Given the description of an element on the screen output the (x, y) to click on. 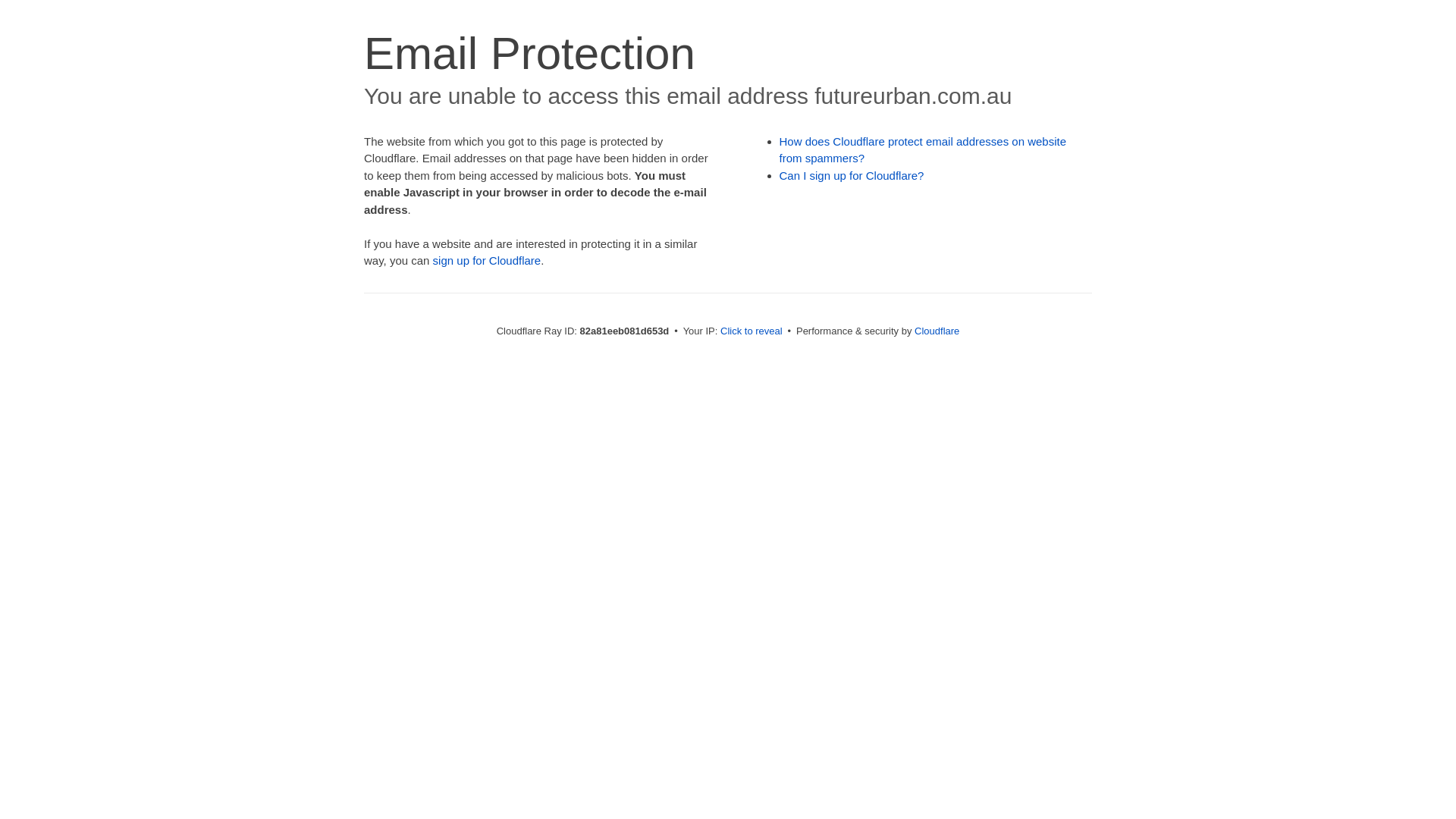
Can I sign up for Cloudflare? Element type: text (851, 175)
sign up for Cloudflare Element type: text (487, 260)
Cloudflare Element type: text (936, 330)
Click to reveal Element type: text (751, 330)
